Given the description of an element on the screen output the (x, y) to click on. 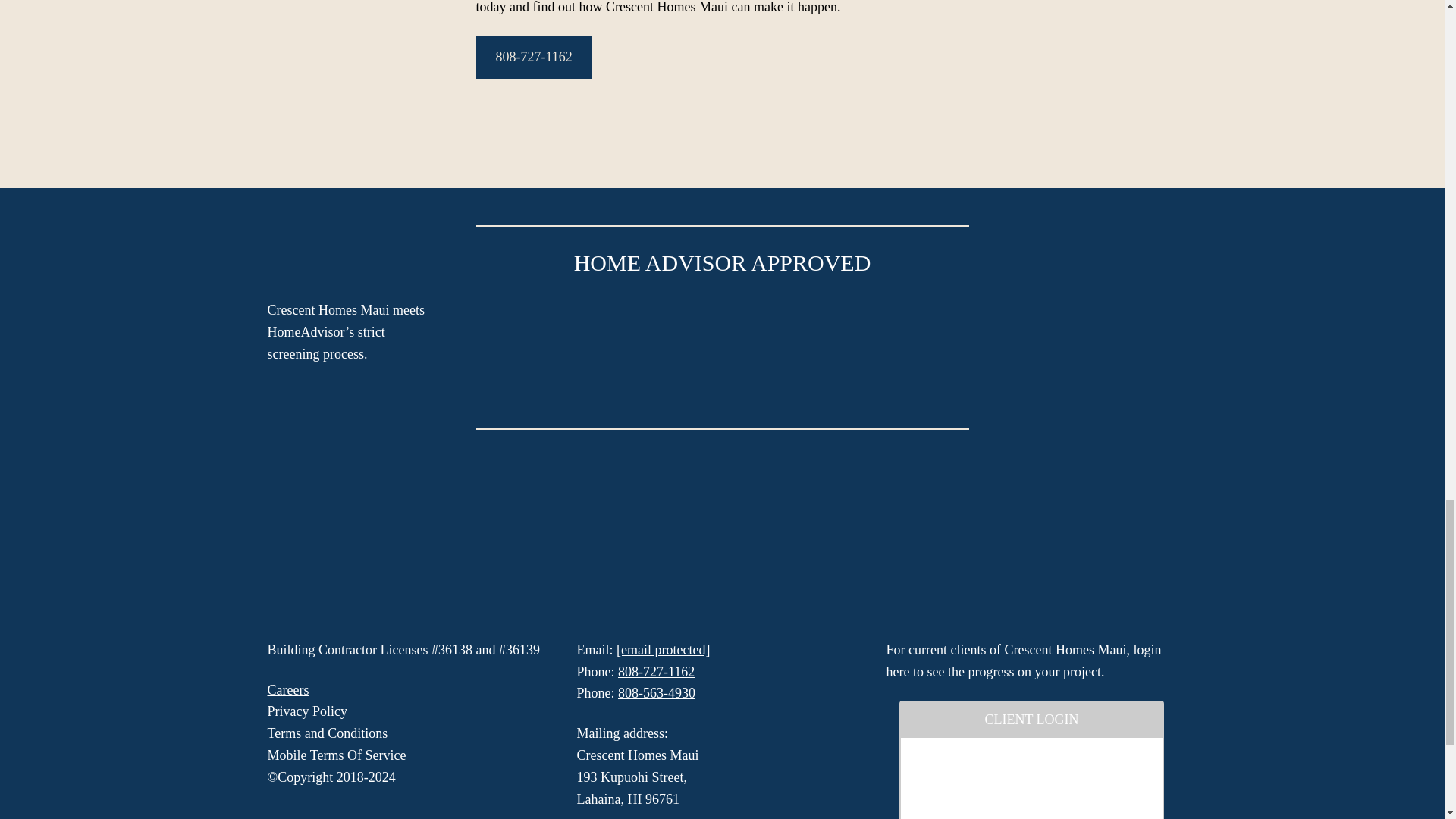
808-727-1162 (534, 57)
Privacy Policy (306, 711)
Terms and Conditions (326, 733)
Careers (287, 689)
